Given the description of an element on the screen output the (x, y) to click on. 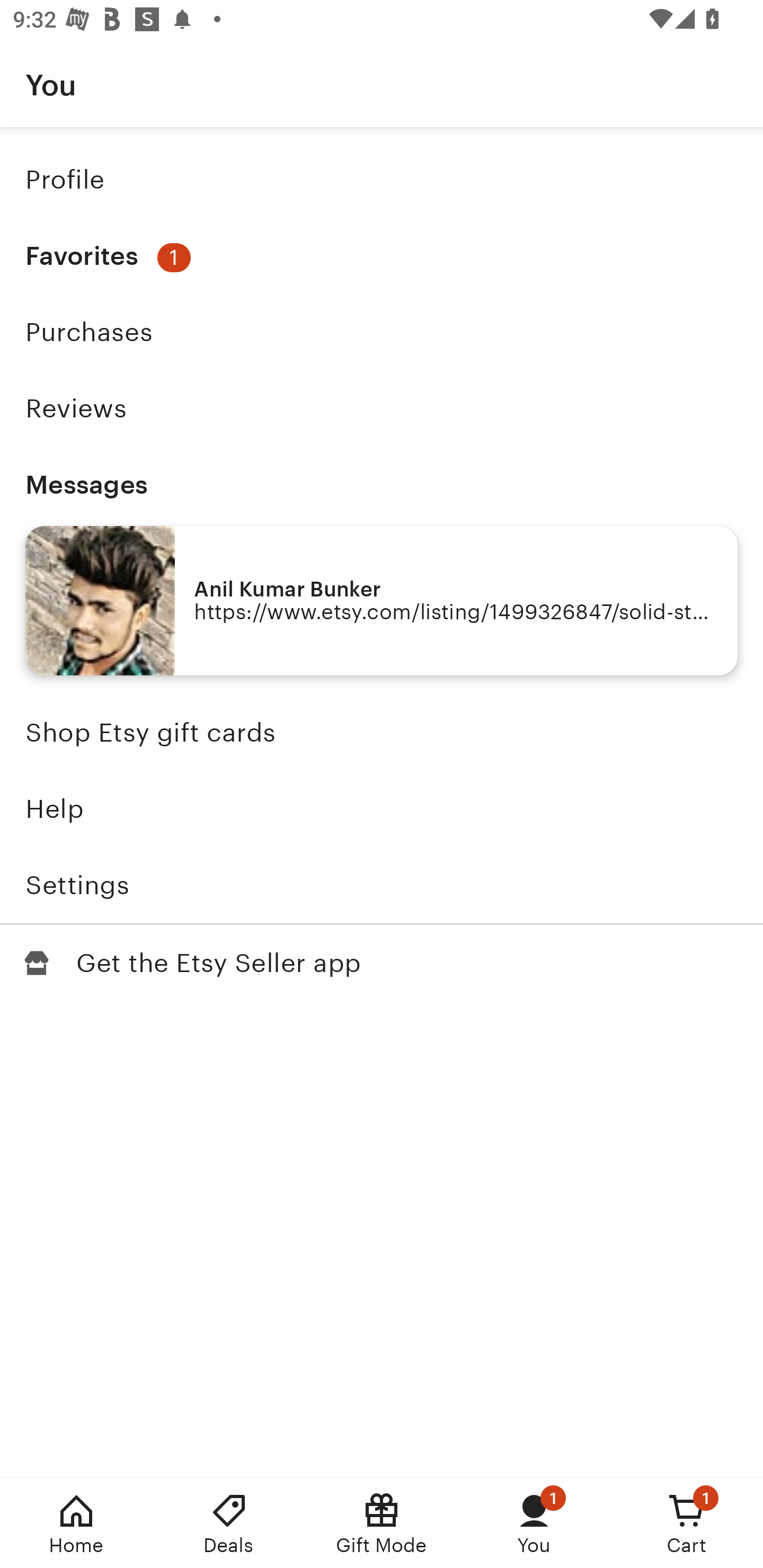
Profile (381, 179)
Favorites 1 (381, 255)
Purchases (381, 332)
Reviews (381, 408)
Messages (381, 484)
Shop Etsy gift cards (381, 732)
Help (381, 808)
Settings (381, 884)
Get the Etsy Seller app (381, 963)
Home (76, 1523)
Deals (228, 1523)
Gift Mode (381, 1523)
Cart, 1 new notification Cart (686, 1523)
